Given the description of an element on the screen output the (x, y) to click on. 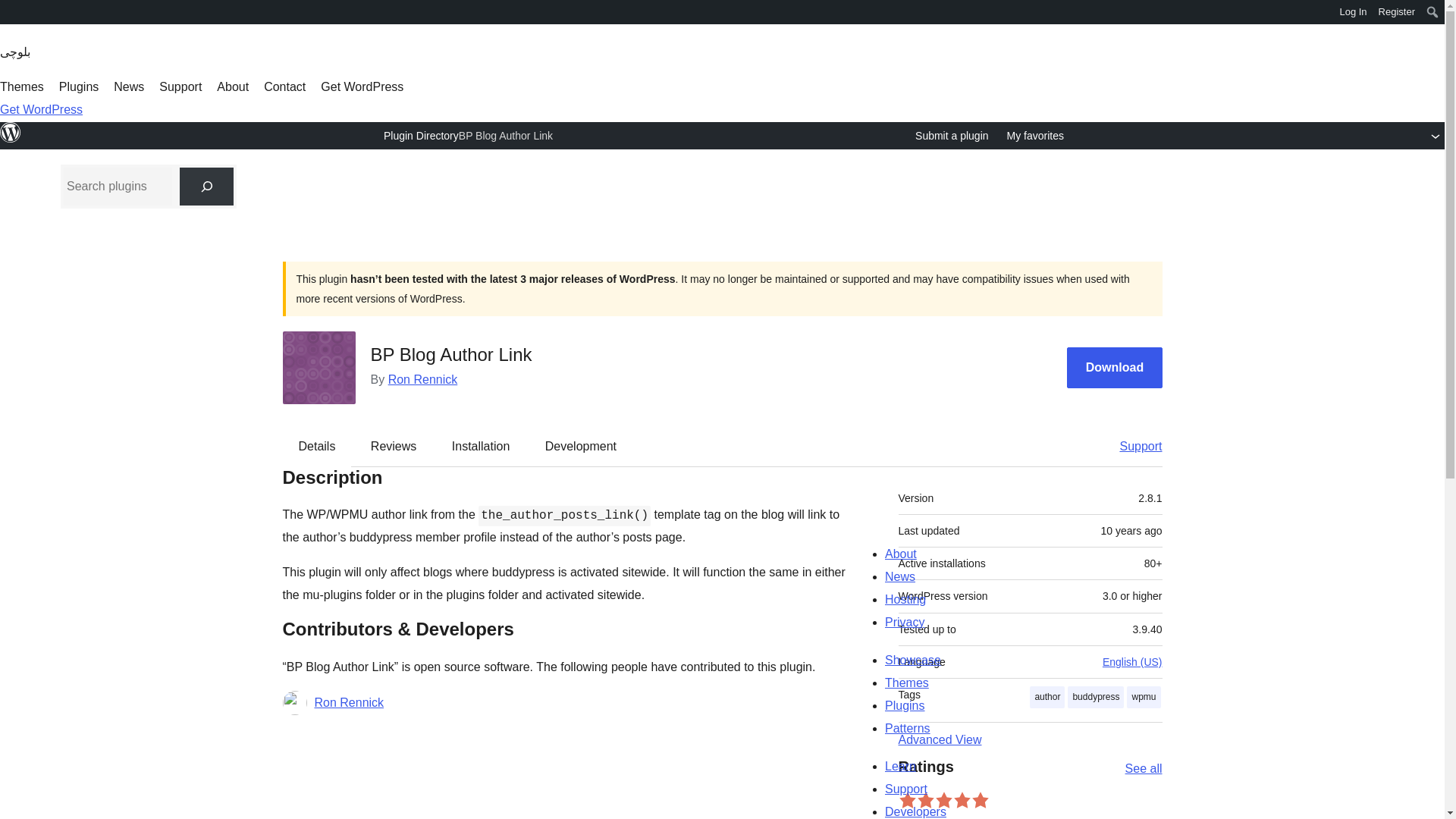
Register (1397, 12)
WordPress.org (10, 132)
BP Blog Author Link (505, 135)
Plugins (79, 87)
WordPress.org (10, 10)
Ron Rennick (423, 379)
WordPress.org (10, 16)
Themes (21, 87)
Details (316, 446)
Plugin Directory (421, 135)
